Given the description of an element on the screen output the (x, y) to click on. 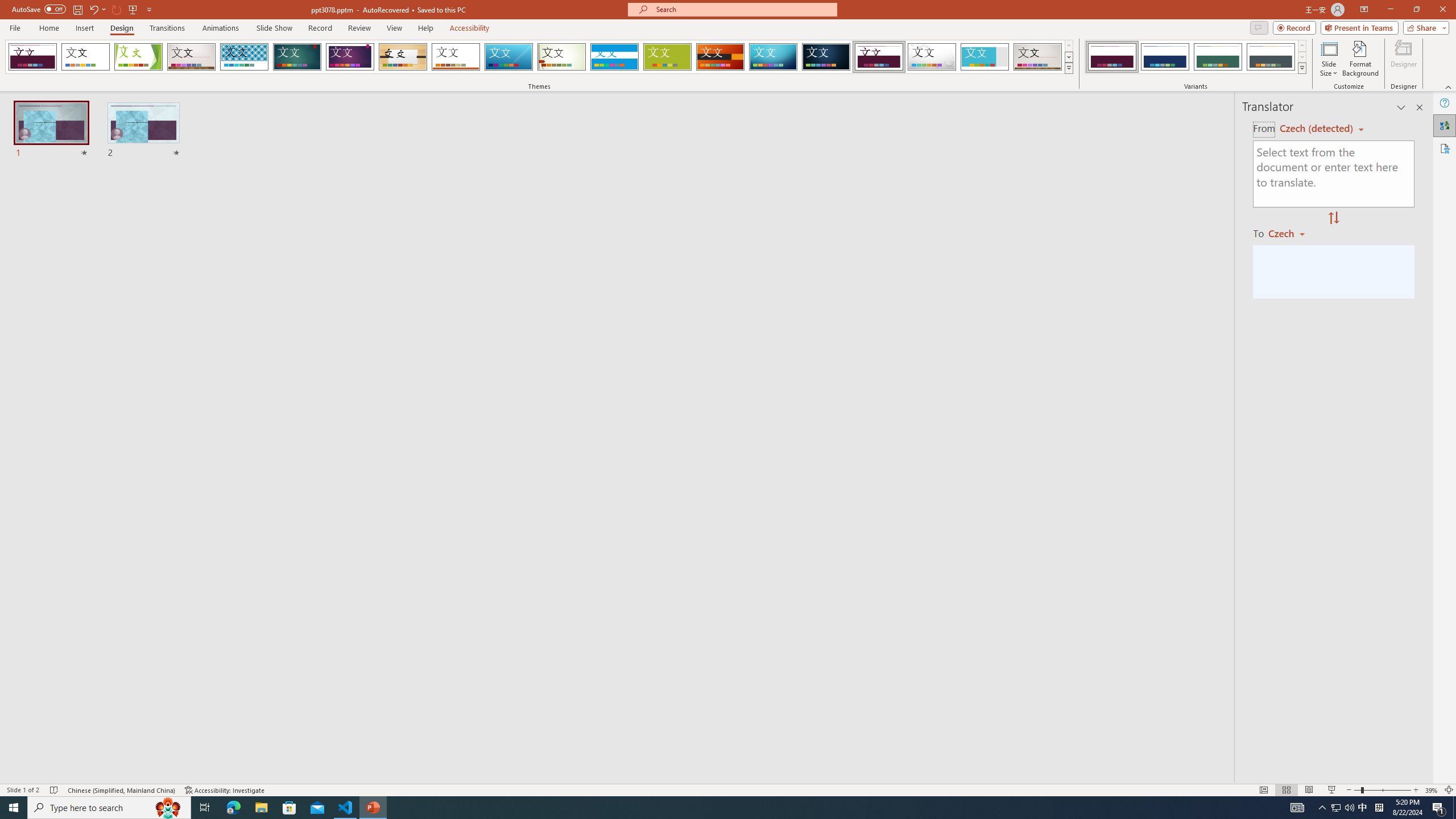
Czech (1291, 232)
Dividend Variant 4 (1270, 56)
Banded (614, 56)
